Given the description of an element on the screen output the (x, y) to click on. 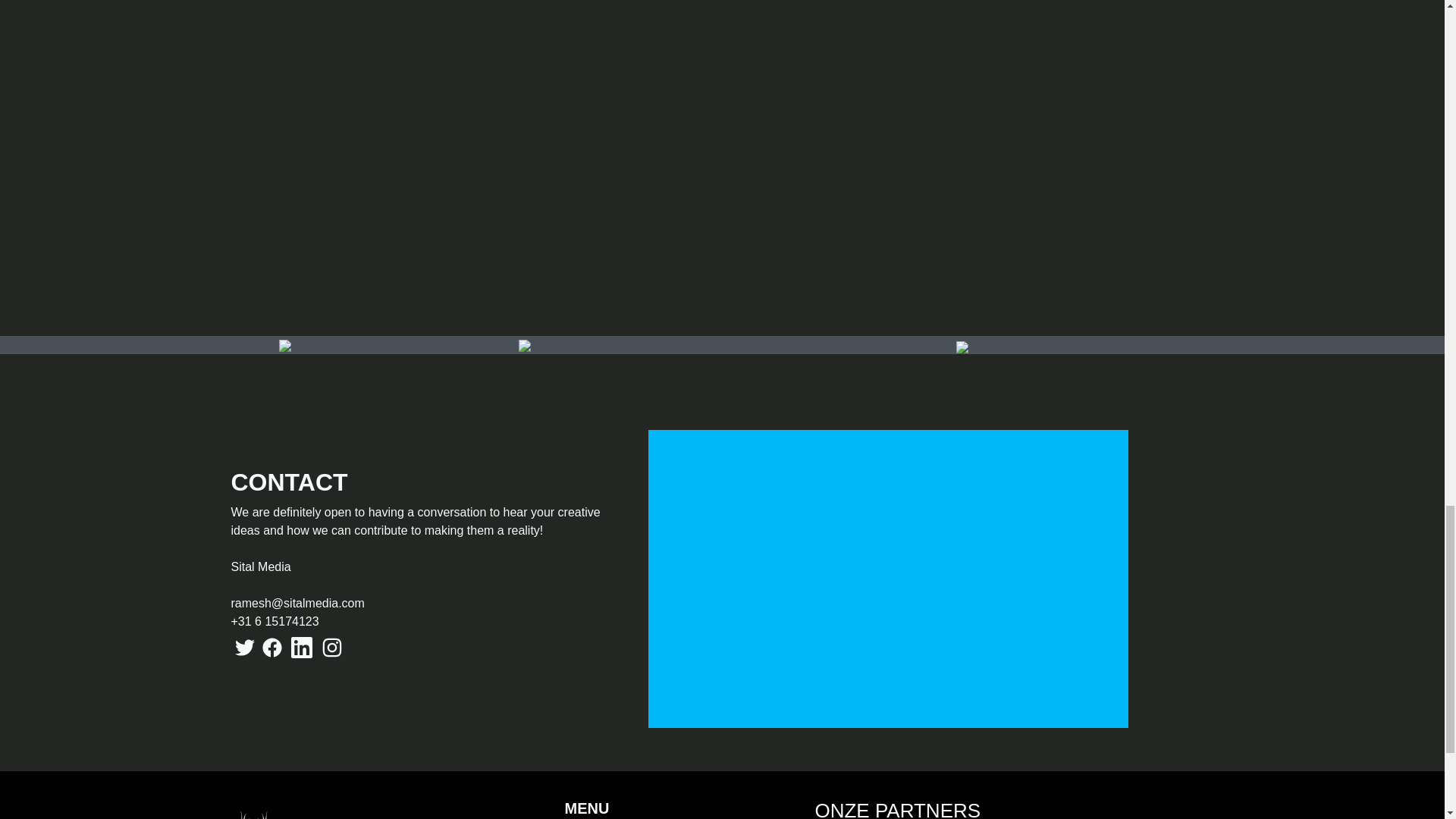
Test (298, 809)
